Given the description of an element on the screen output the (x, y) to click on. 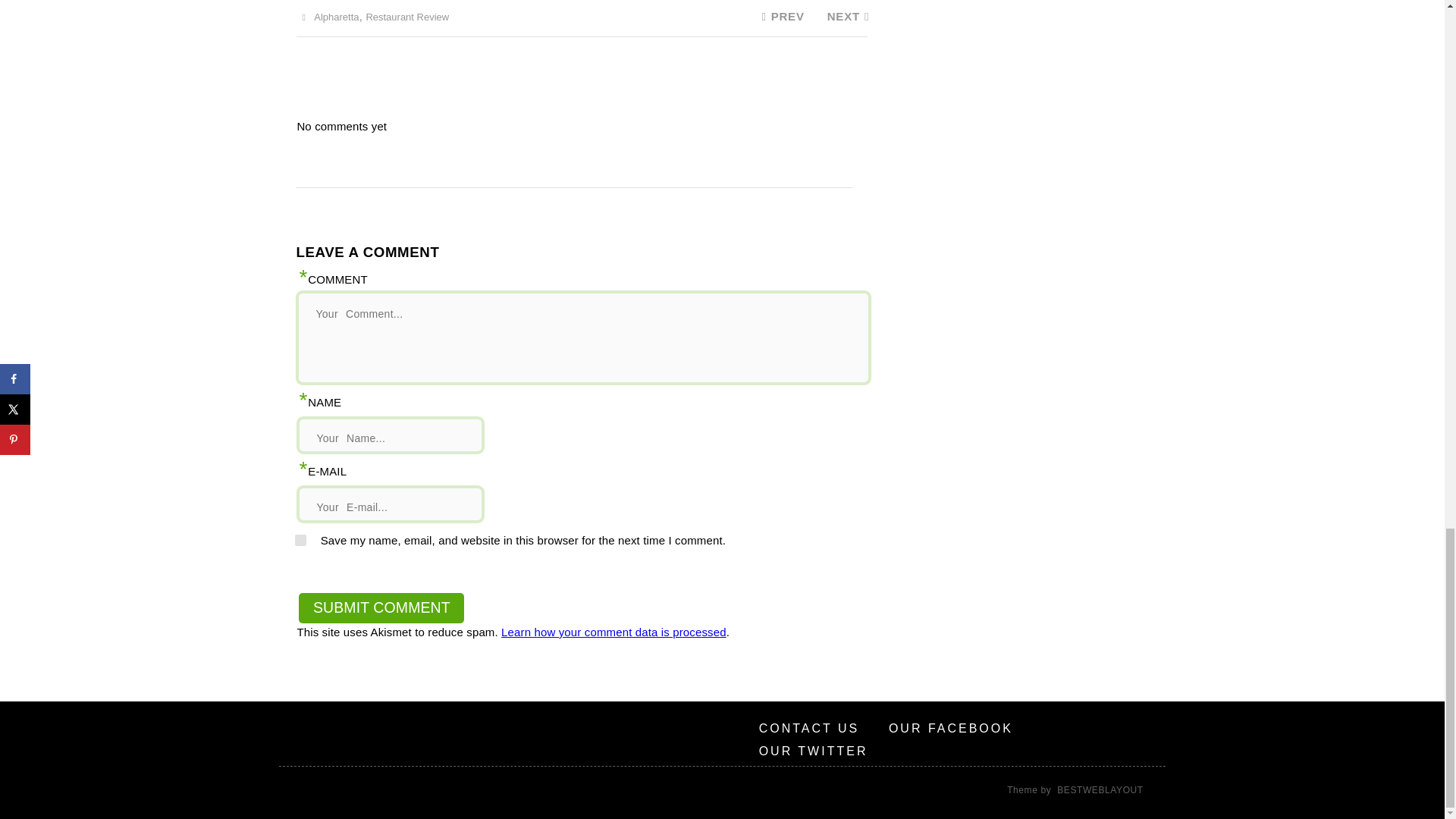
submit comment (381, 607)
NEXT (848, 15)
PREV (780, 15)
Restaurant Review (406, 16)
submit comment (381, 607)
Learn how your comment data is processed (613, 631)
yes (300, 539)
Alpharetta (336, 16)
